Given the description of an element on the screen output the (x, y) to click on. 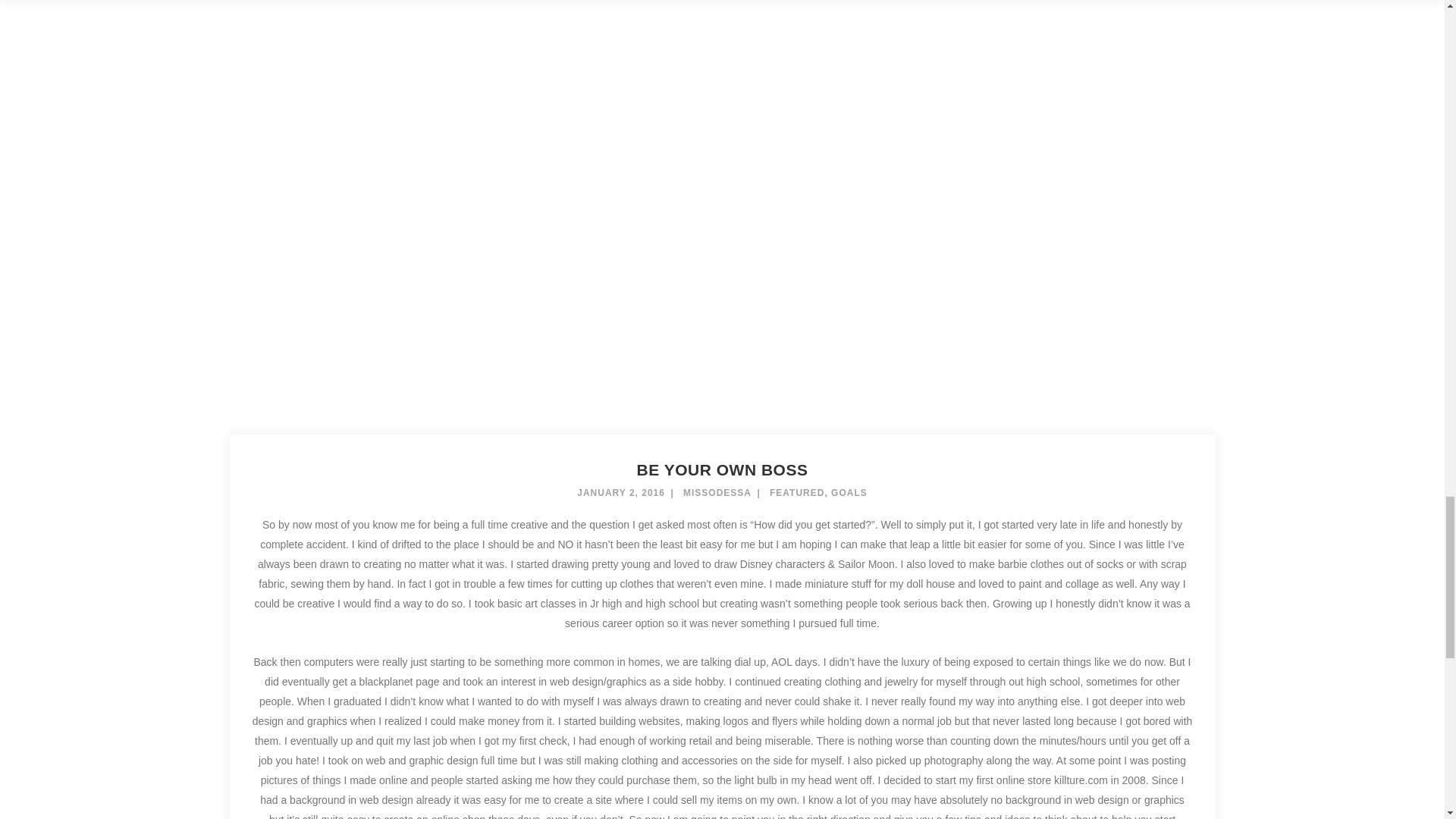
Be Your Own Boss (722, 469)
Be Your Own Boss (721, 160)
